Given the description of an element on the screen output the (x, y) to click on. 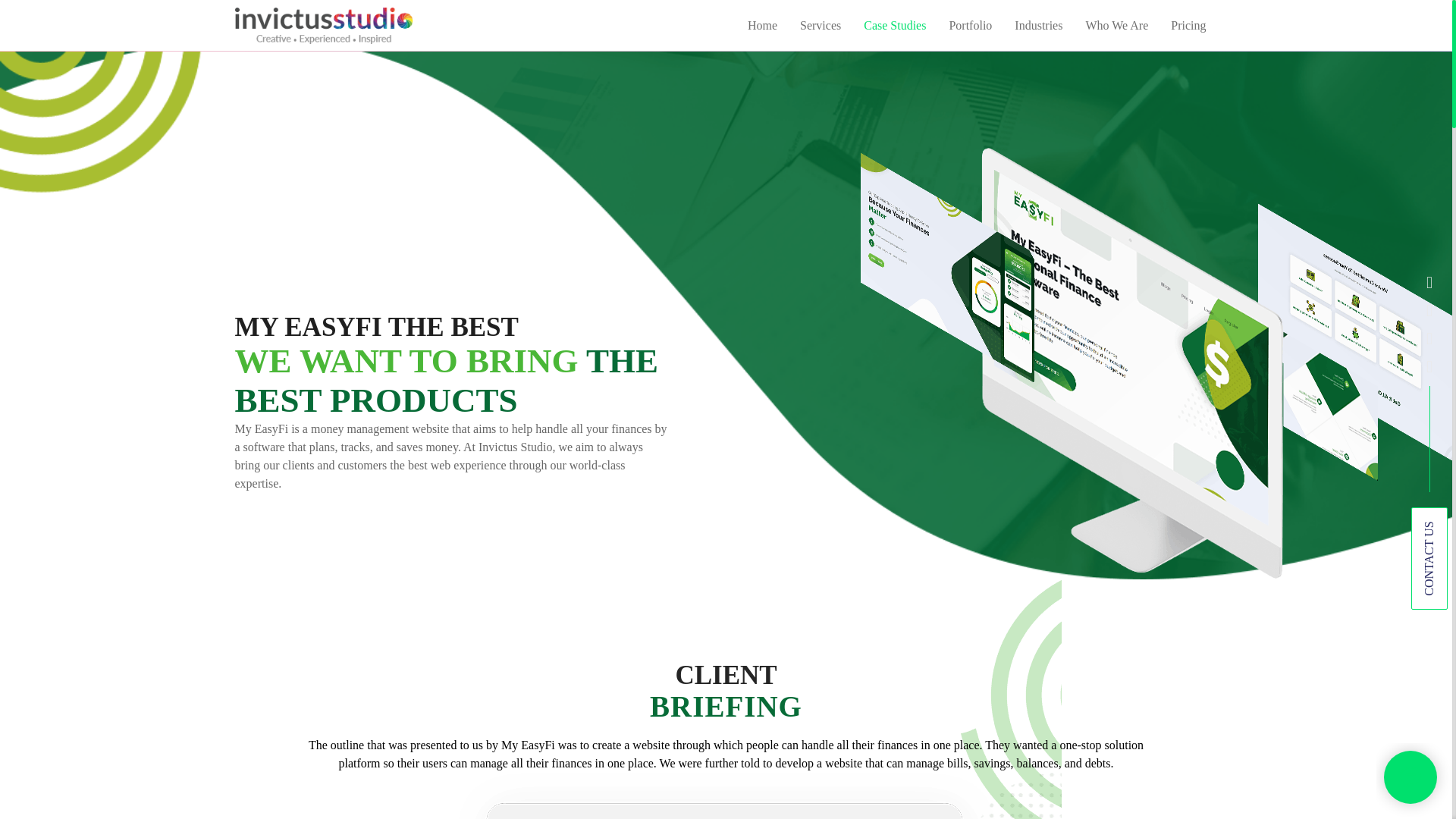
Case Studies (894, 25)
Home (762, 25)
Services (820, 25)
